Given the description of an element on the screen output the (x, y) to click on. 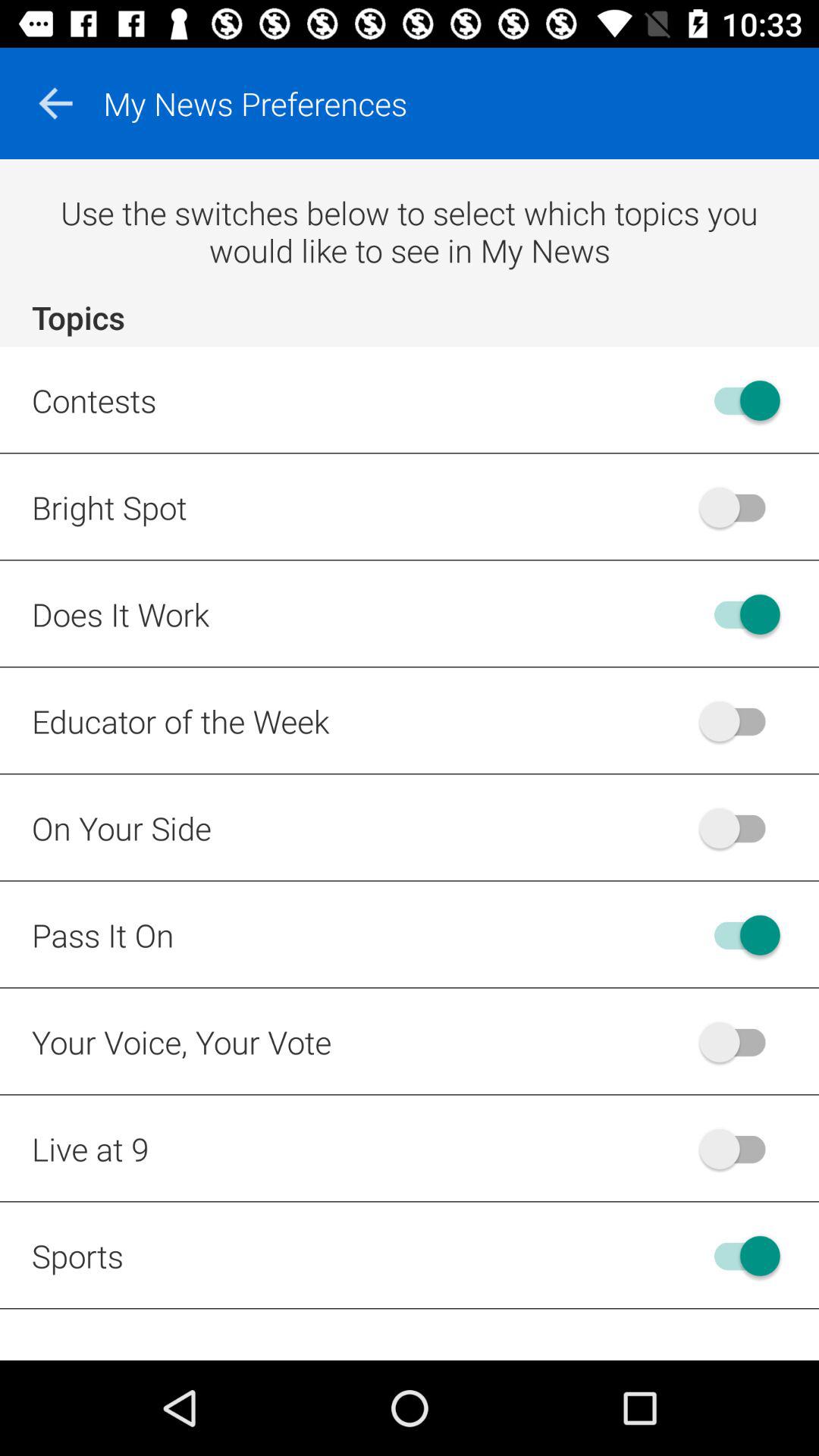
press icon at the top left corner (55, 103)
